Given the description of an element on the screen output the (x, y) to click on. 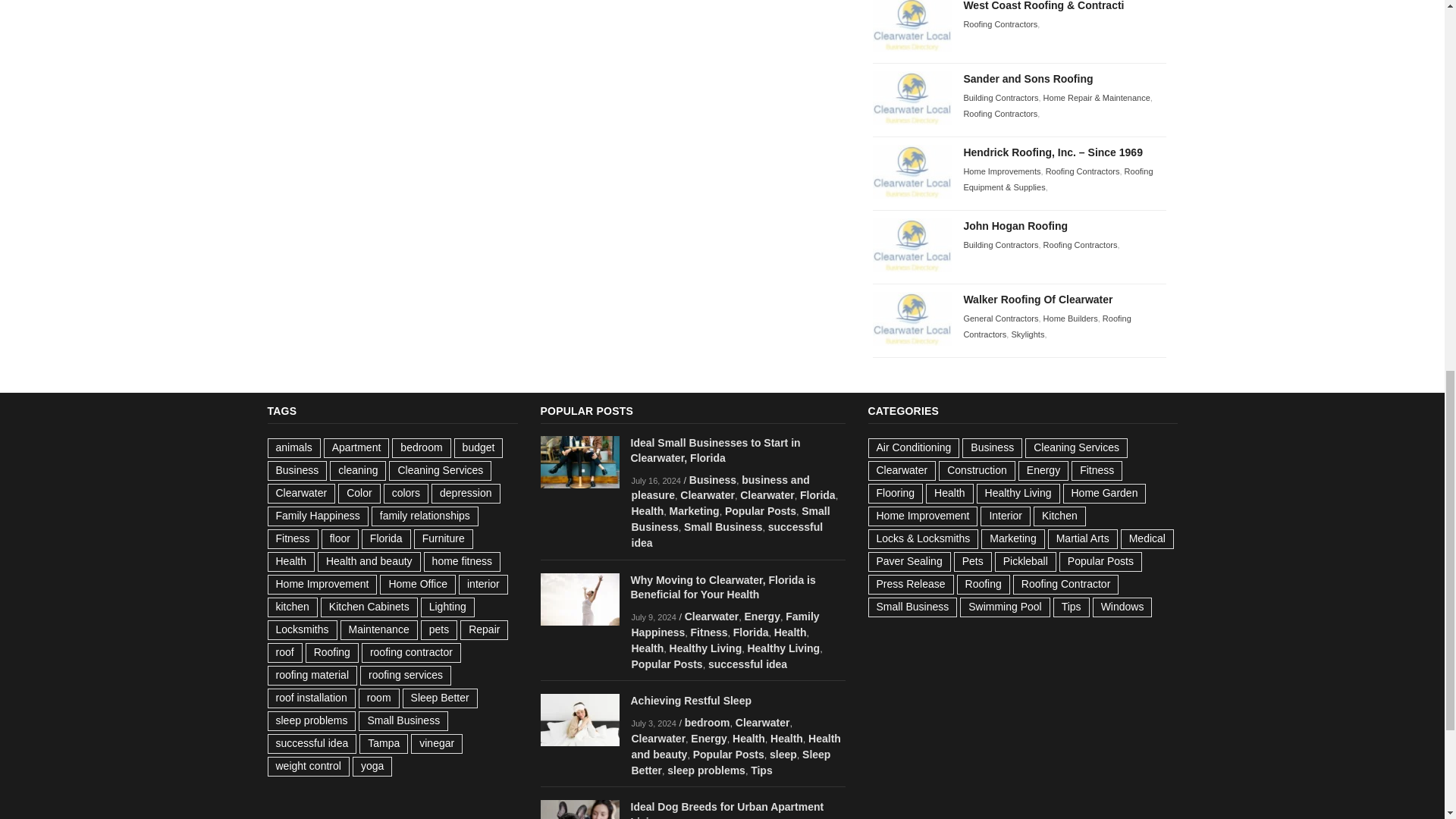
Roofing Contractors (999, 23)
